Given the description of an element on the screen output the (x, y) to click on. 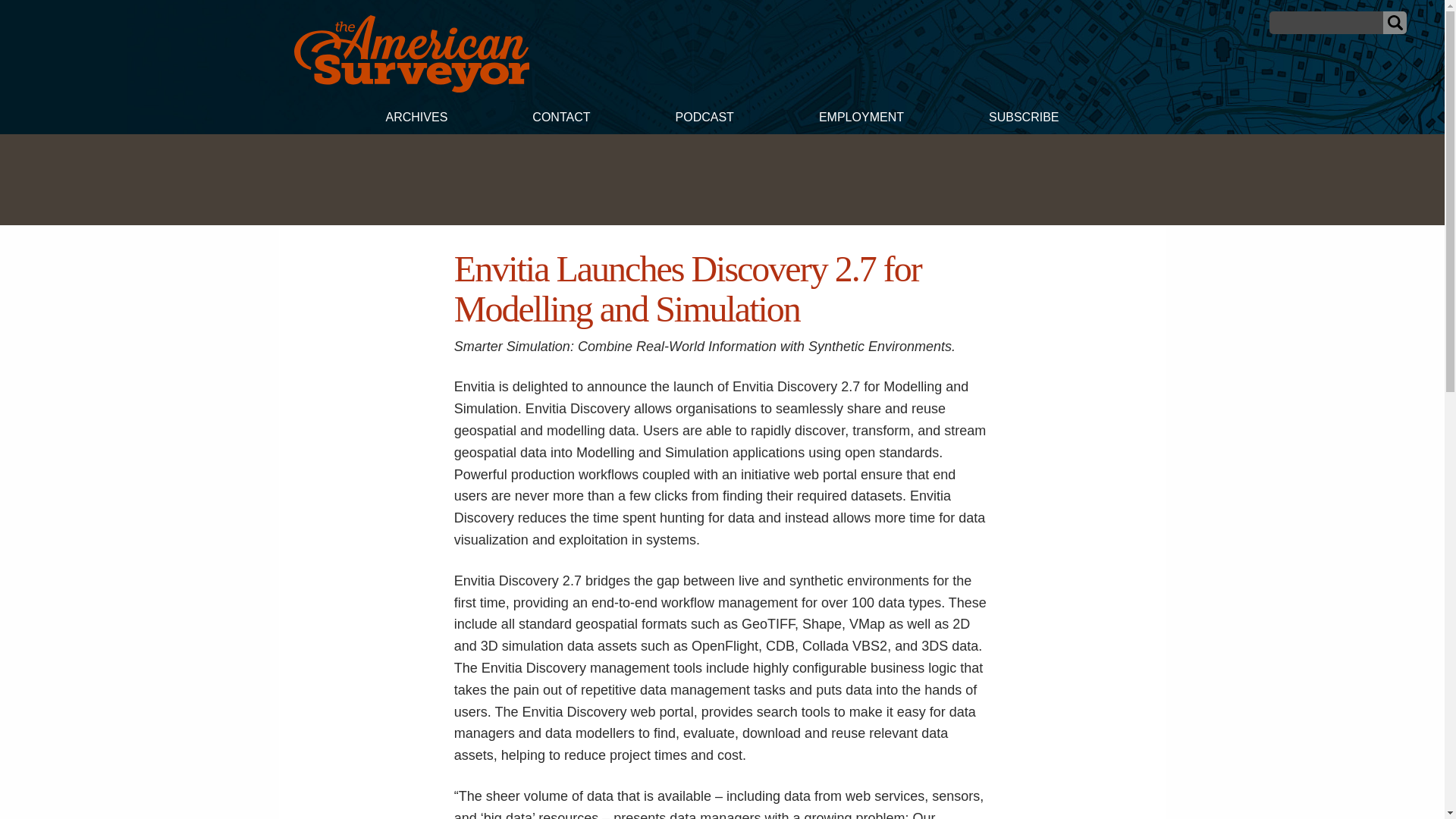
CONTACT (560, 119)
The American Surveyor (411, 88)
Submit (1394, 22)
3rd party ad content (721, 179)
SUBSCRIBE (1024, 119)
Search for: (1326, 22)
The American Surveyor (411, 53)
Submit (1394, 22)
PODCAST (704, 119)
EMPLOYMENT (861, 119)
